Given the description of an element on the screen output the (x, y) to click on. 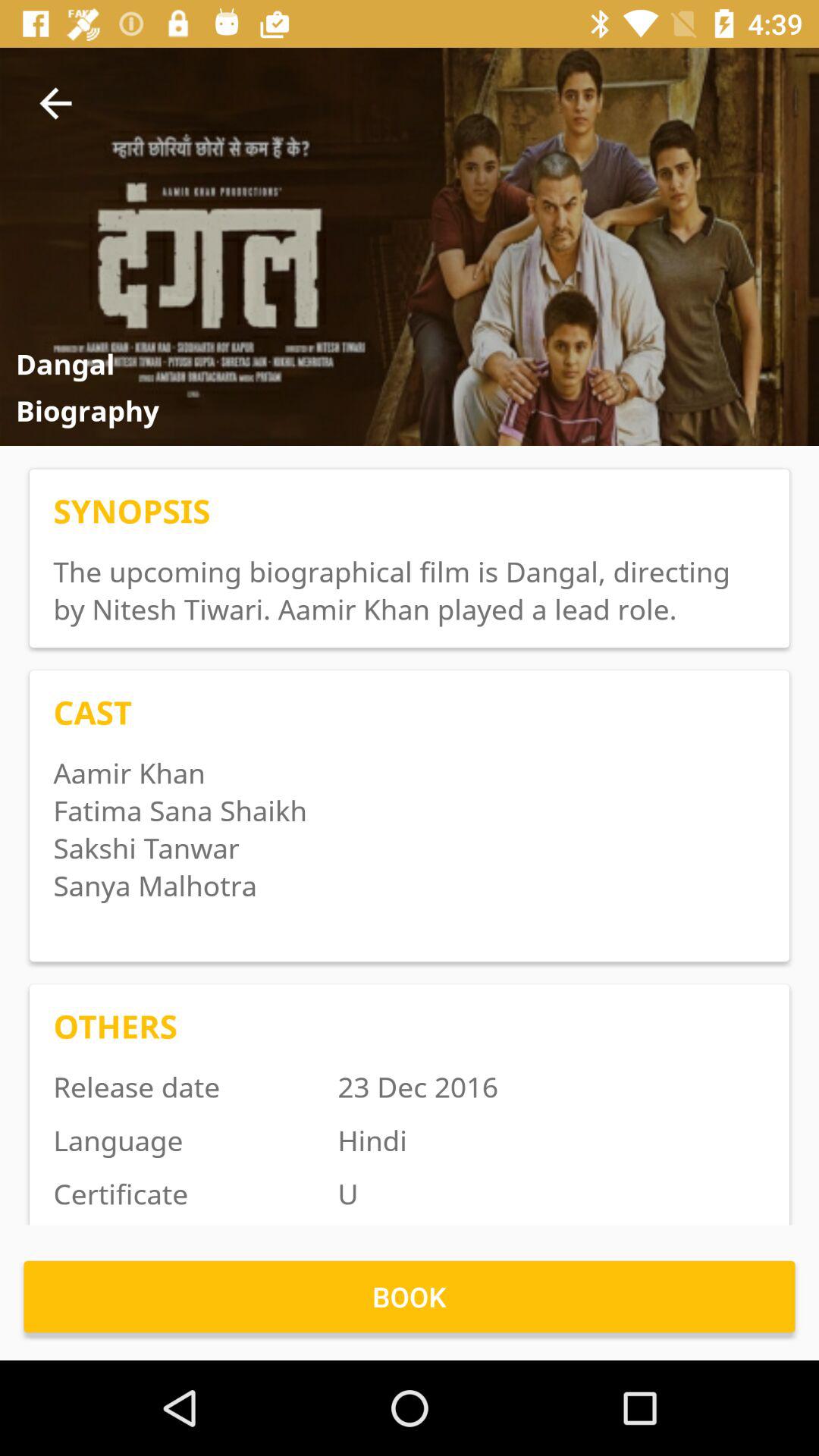
turn on the book icon (409, 1296)
